Given the description of an element on the screen output the (x, y) to click on. 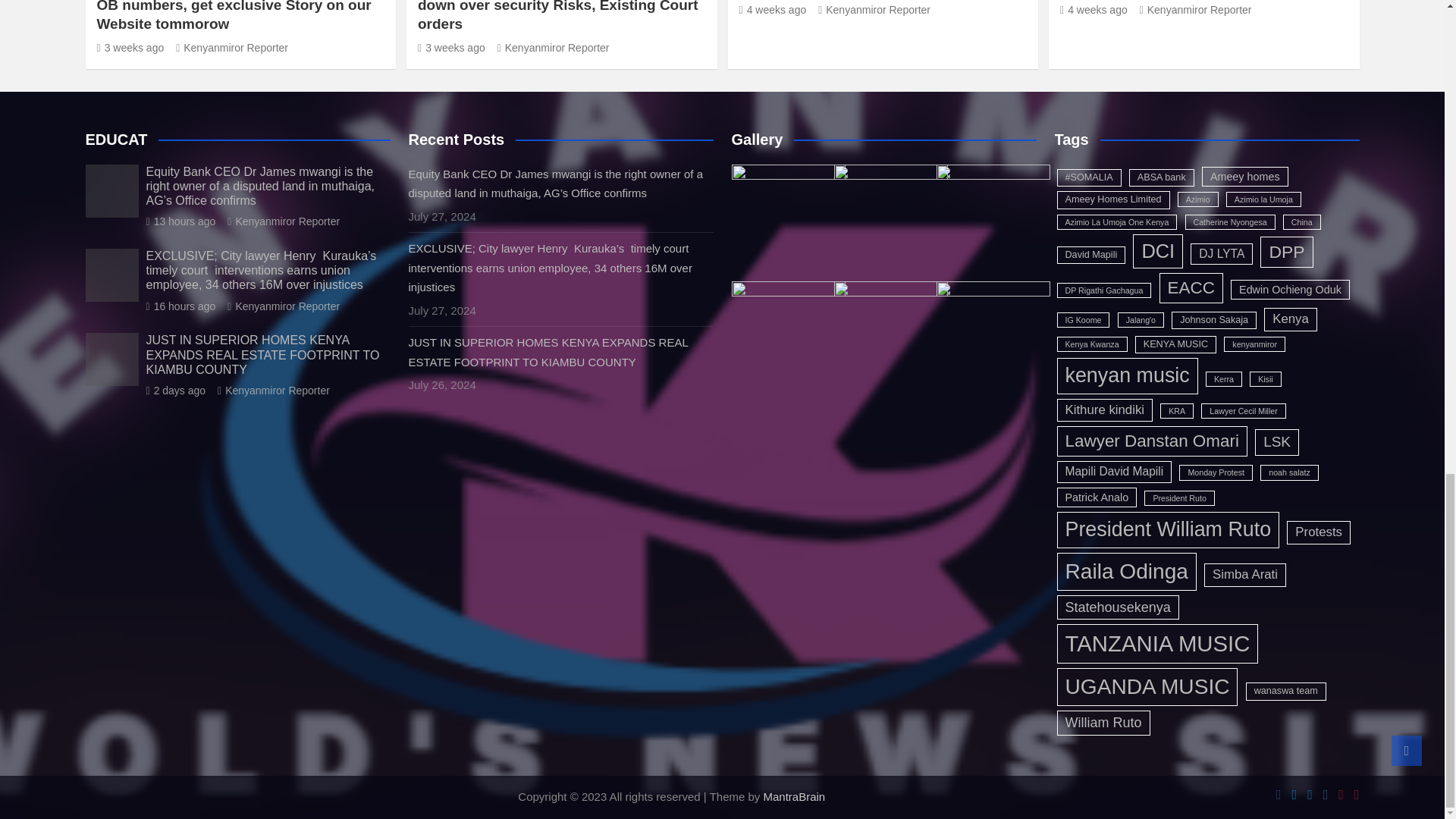
Kenyanmiror Reporter (232, 47)
3 weeks ago (450, 47)
3 weeks ago (130, 47)
Kenyanmiror Reporter (553, 47)
MantraBrain (793, 796)
